Given the description of an element on the screen output the (x, y) to click on. 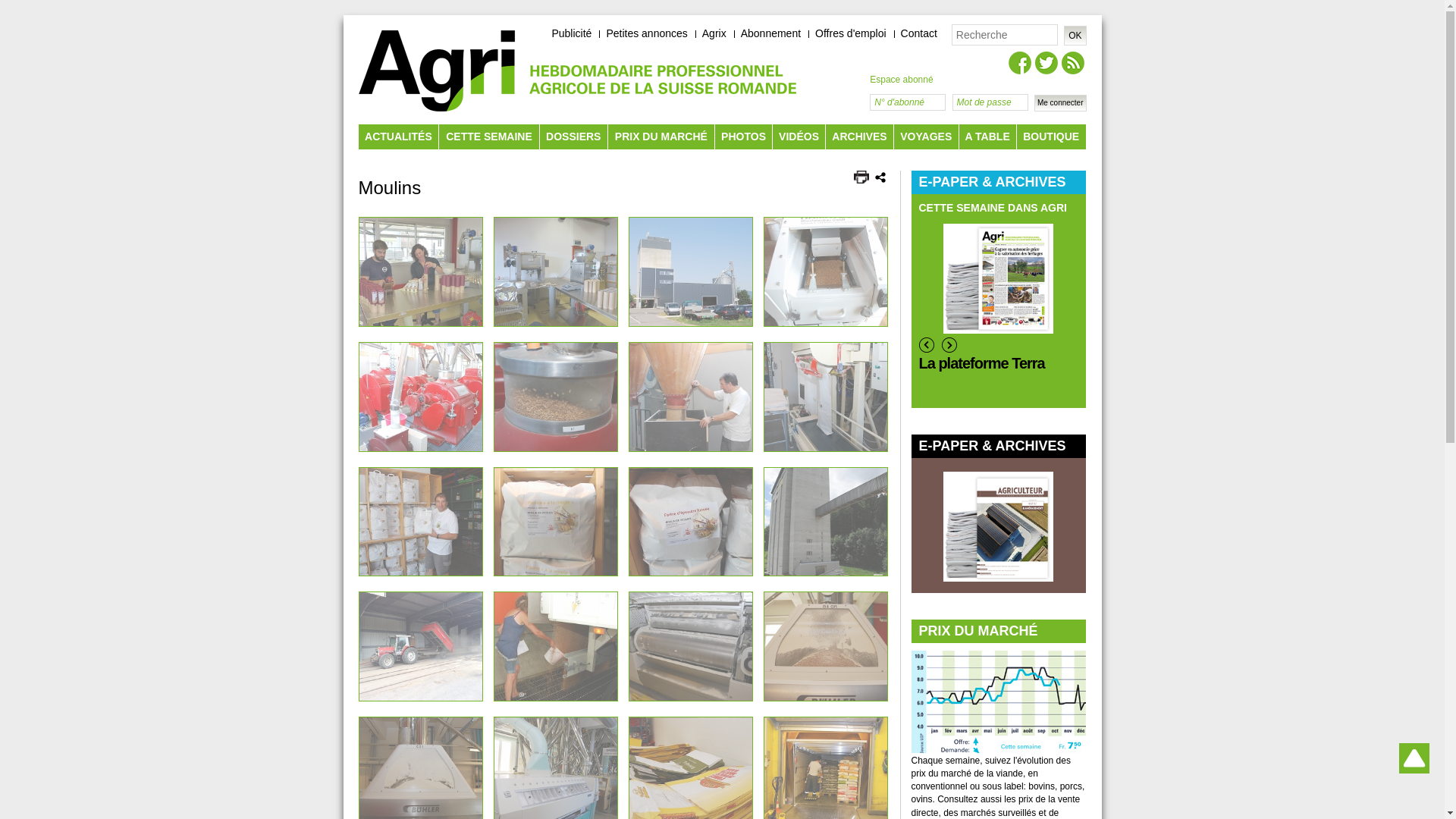
DOSSIERS Element type: text (573, 136)
Abonnement Element type: text (770, 33)
E-PAPER & ARCHIVES Element type: text (998, 182)
ARCHIVES Element type: text (859, 136)
Agri Homepage Element type: text (435, 70)
PHOTOS Element type: text (743, 136)
Hebdomadaire professionnel agricole de la Suisse Romande Element type: text (662, 79)
E-PAPER & ARCHIVES Element type: text (998, 446)
Agrix Element type: text (714, 33)
La plateforme Terra Element type: text (998, 373)
A TABLE Element type: text (986, 136)
Me connecter Element type: text (1060, 102)
Petites annonces Element type: text (646, 33)
Contact Element type: text (918, 33)
BOUTIQUE Element type: text (1050, 136)
OK Element type: text (1074, 35)
Affouragement Bio Suisse Element type: text (839, 373)
Offres d'emploi Element type: text (850, 33)
CETTE SEMAINE Element type: text (488, 136)
VOYAGES Element type: text (925, 136)
(photo Groupe Minoteries) Element type: hover (420, 646)
